Given the description of an element on the screen output the (x, y) to click on. 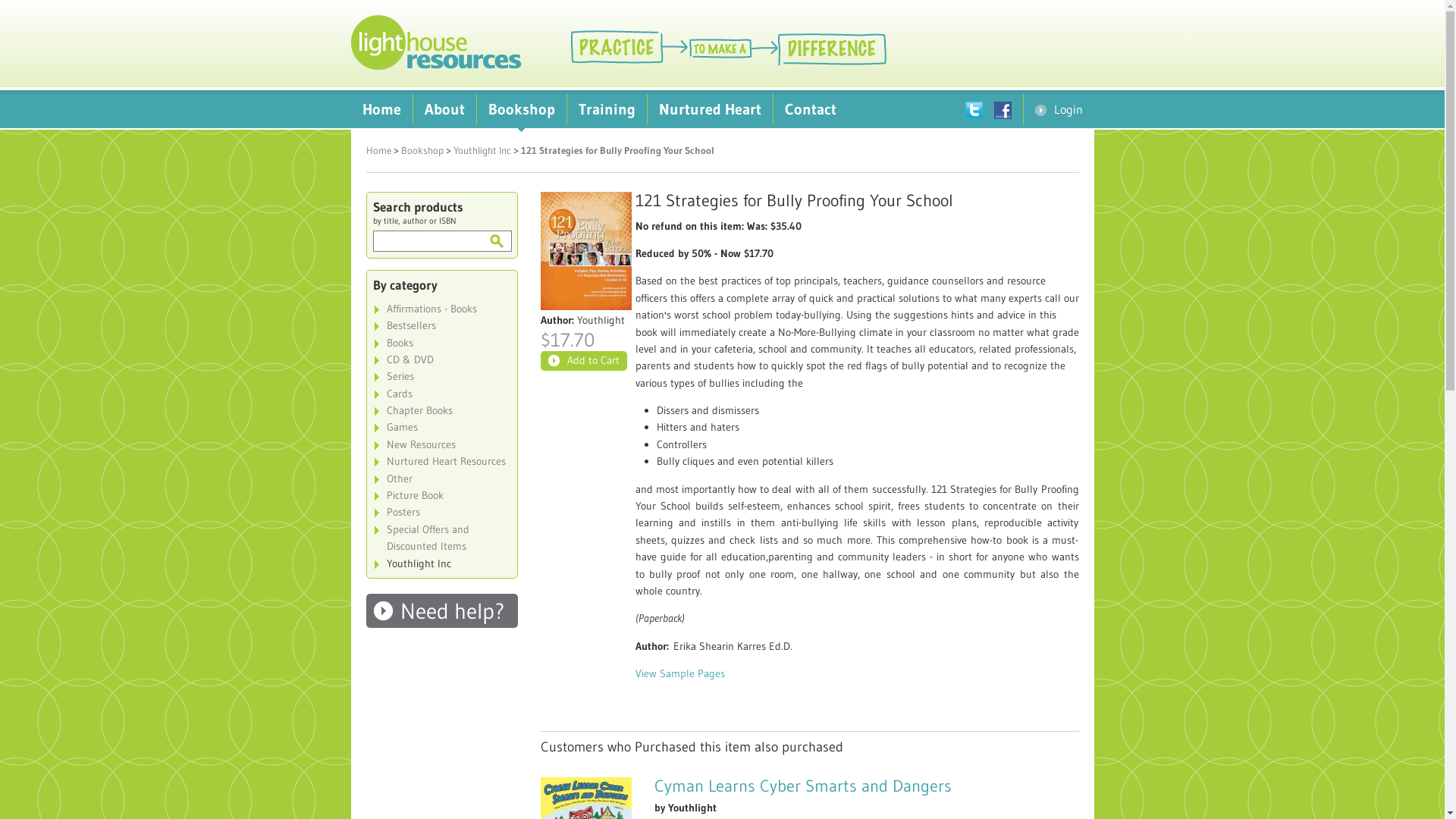
Cards Element type: text (442, 393)
Nurtured Heart Resources Element type: text (442, 460)
Go Element type: text (495, 240)
Other Element type: text (442, 478)
Books Element type: text (442, 342)
Home Element type: text (380, 109)
Youthlight Inc Element type: text (442, 563)
Special Offers and Discounted Items Element type: text (442, 537)
Need help? Element type: text (441, 610)
About Element type: text (443, 109)
Picture Book Element type: text (442, 494)
Login Element type: text (1058, 109)
Training Element type: text (606, 109)
Chapter Books Element type: text (442, 409)
Games Element type: text (442, 426)
Series Element type: text (442, 375)
New Resources Element type: text (442, 444)
Affirmations - Books Element type: text (442, 308)
Bookshop Element type: text (520, 109)
Visit us on Twitter Element type: hover (978, 109)
Cyman Learns Cyber Smarts and Dangers Element type: text (801, 785)
CD & DVD Element type: text (442, 359)
Youthlight Inc Element type: text (482, 150)
Bestsellers Element type: text (442, 324)
Home Element type: text (377, 150)
Visit us on Facebook Element type: hover (1007, 109)
View Sample Pages Element type: text (679, 673)
Posters Element type: text (442, 511)
Add to Cart Element type: text (582, 360)
Bookshop Element type: text (421, 150)
Nurtured Heart Element type: text (709, 109)
Contact Element type: text (810, 109)
